Given the description of an element on the screen output the (x, y) to click on. 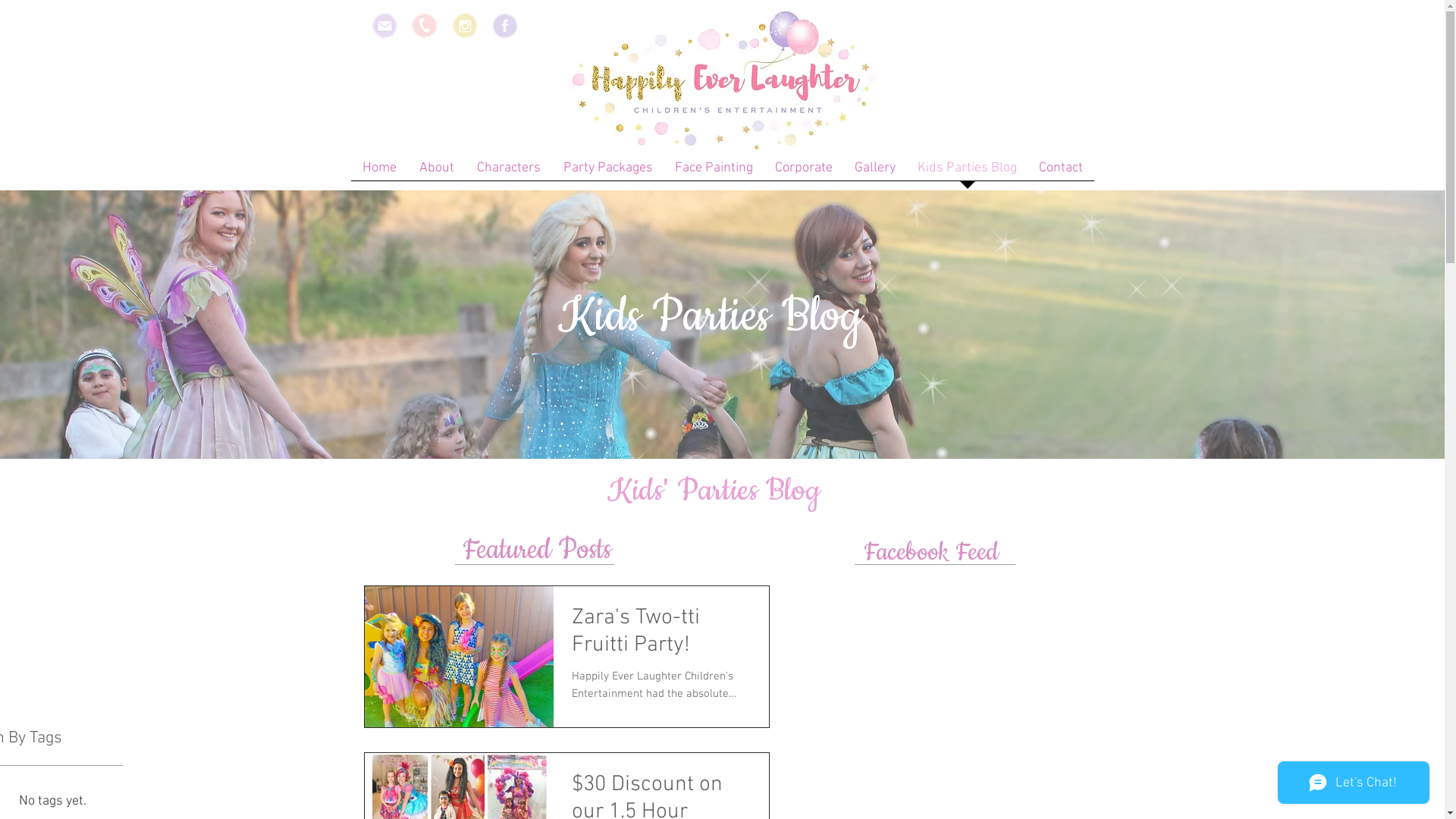
Zara's Two-tti Fruitti Party! Element type: text (660, 636)
Face Painting Element type: text (714, 172)
Gallery Element type: text (874, 172)
Kids Parties Blog Element type: text (967, 172)
Corporate Element type: text (804, 172)
Characters Element type: text (508, 172)
Home Element type: text (378, 172)
Contact Element type: text (1061, 172)
Party Packages Element type: text (608, 172)
About Element type: text (436, 172)
